Given the description of an element on the screen output the (x, y) to click on. 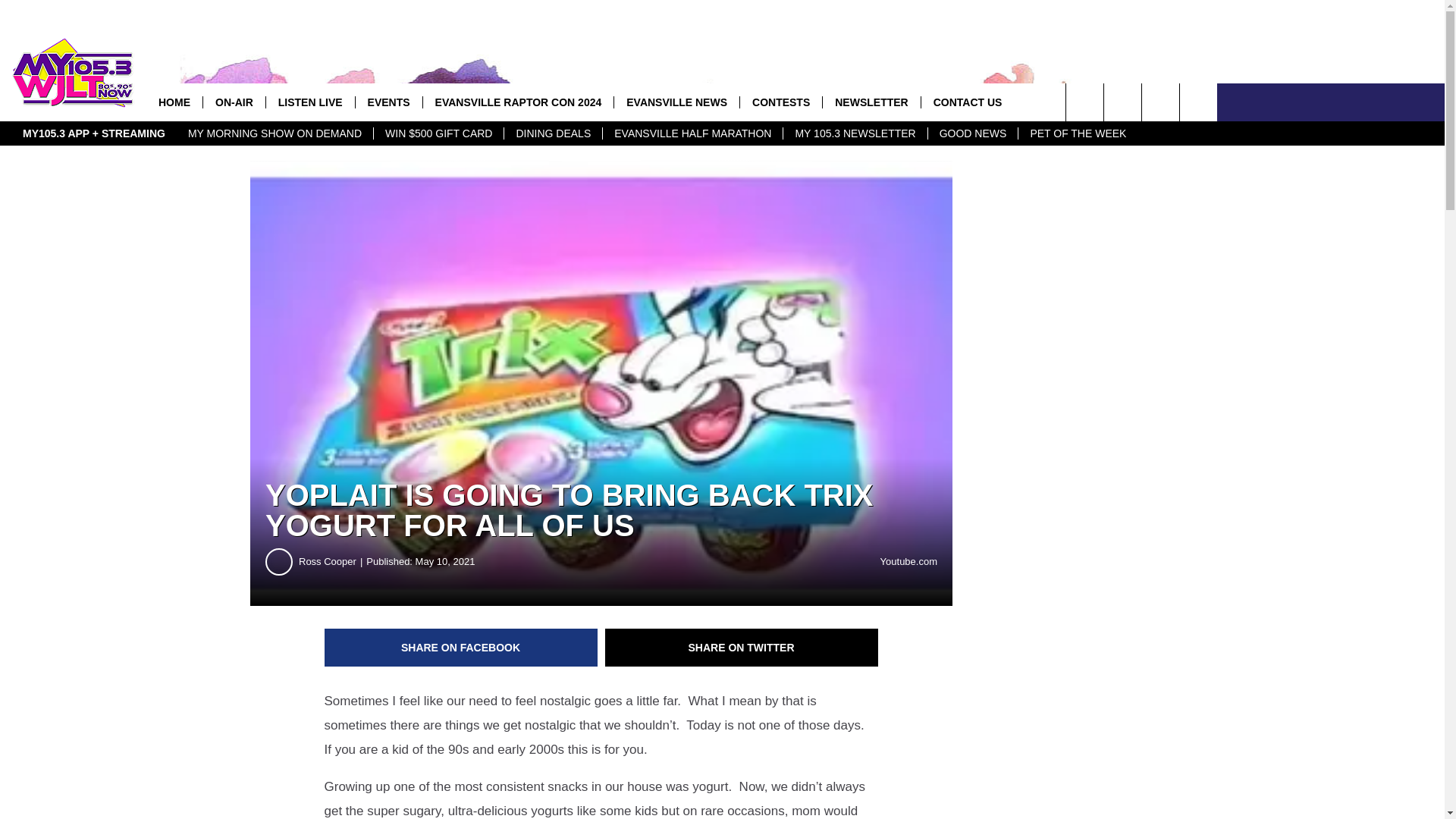
EVANSVILLE RAPTOR CON 2024 (518, 102)
HOME (174, 102)
CONTACT US (967, 102)
Share on Facebook (460, 647)
ON-AIR (233, 102)
NEWSLETTER (871, 102)
Share on Twitter (741, 647)
LISTEN LIVE (309, 102)
DINING DEALS (552, 133)
EVENTS (388, 102)
